Given the description of an element on the screen output the (x, y) to click on. 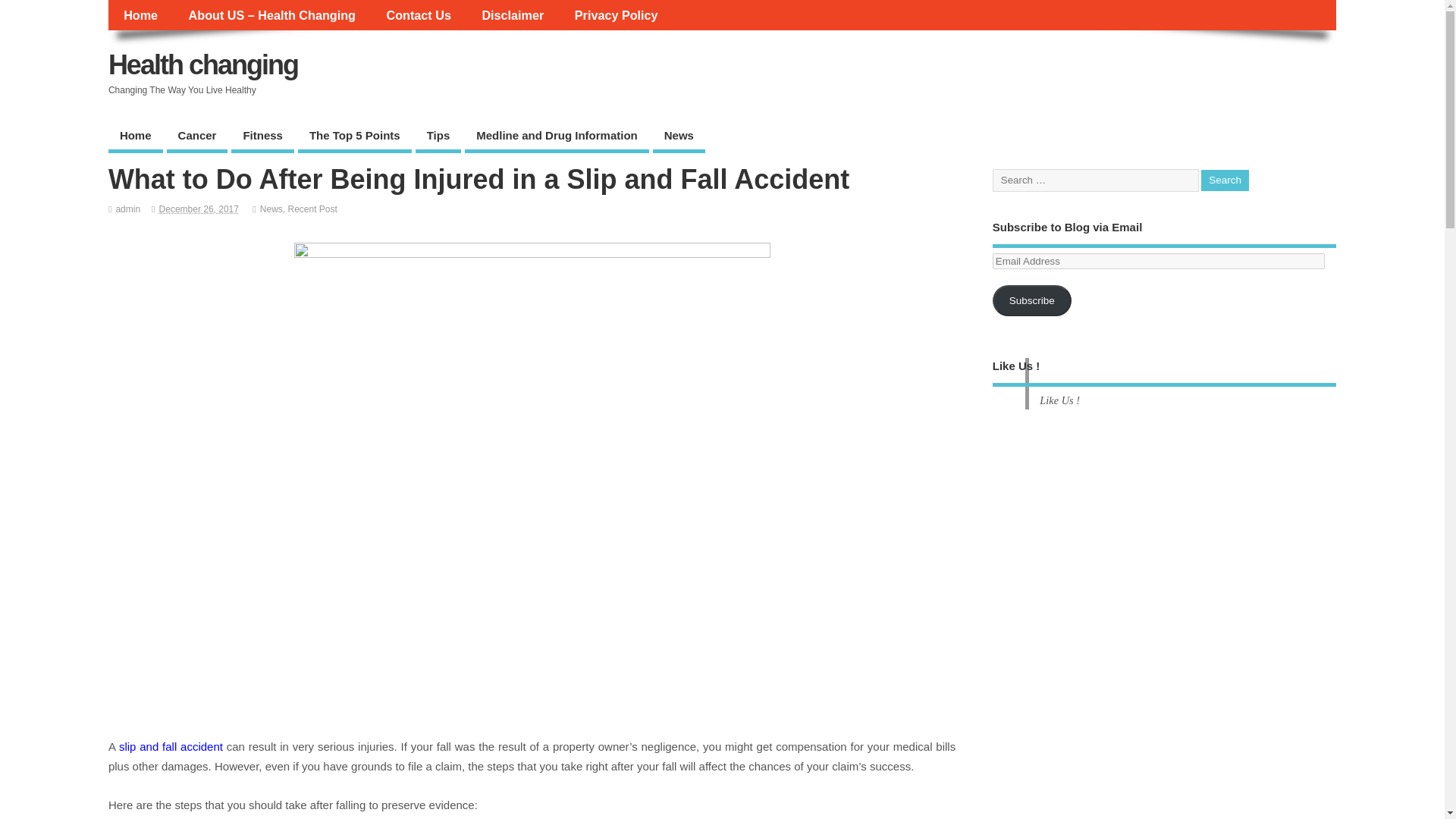
Search (1225, 180)
Medline and Drug Information (556, 136)
Recent Post (312, 208)
The Top 5 Points (355, 136)
Disclaimer (512, 15)
slip and fall accident (170, 746)
Home (135, 136)
Health changing (202, 64)
Cancer (197, 136)
Search for: (1095, 179)
admin (127, 208)
Search (1225, 180)
Privacy Policy (615, 15)
News (678, 136)
Tips (437, 136)
